Given the description of an element on the screen output the (x, y) to click on. 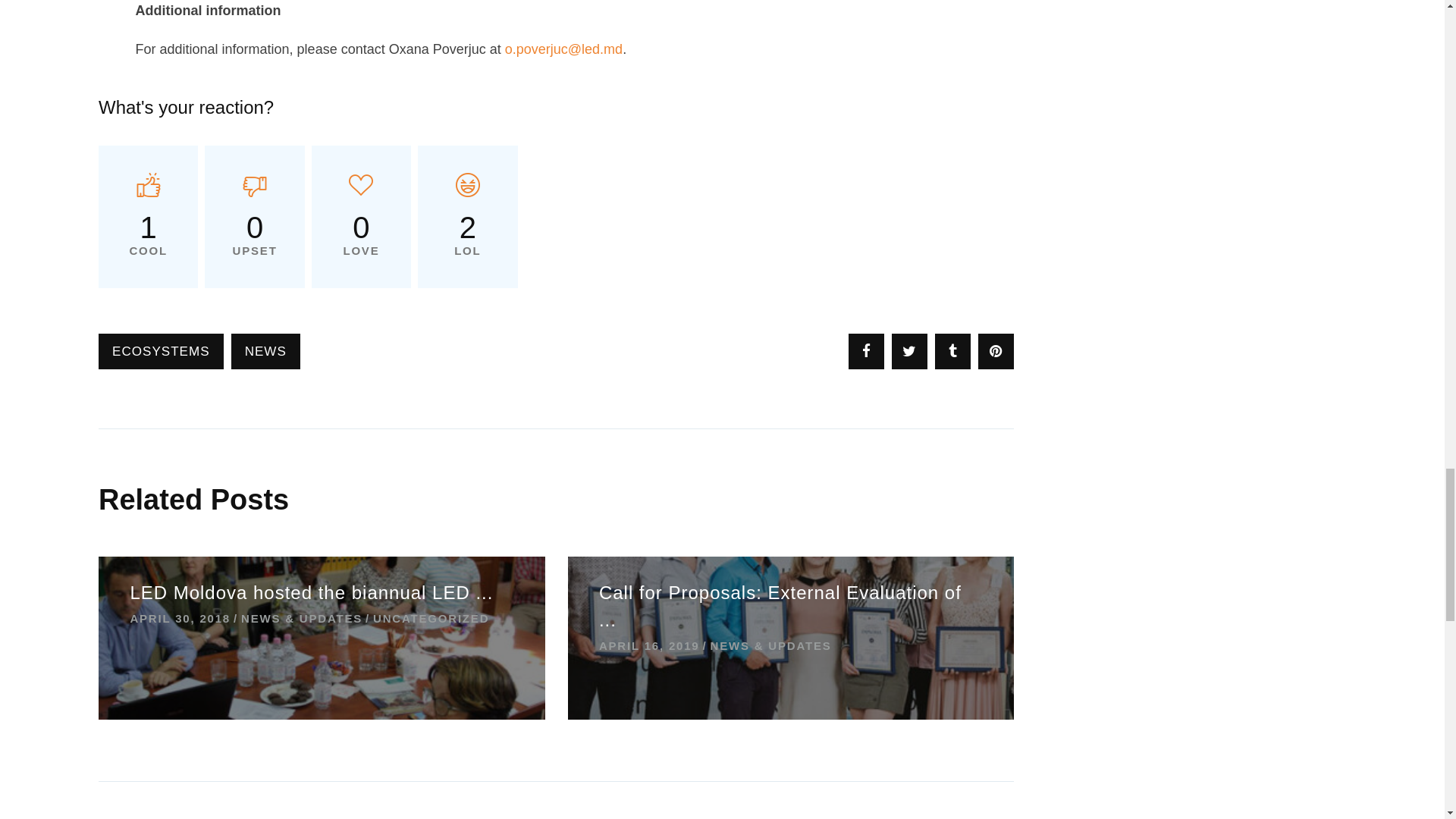
NEWS (265, 351)
View all posts in Uncategorized (425, 619)
ECOSYSTEMS (161, 351)
